Given the description of an element on the screen output the (x, y) to click on. 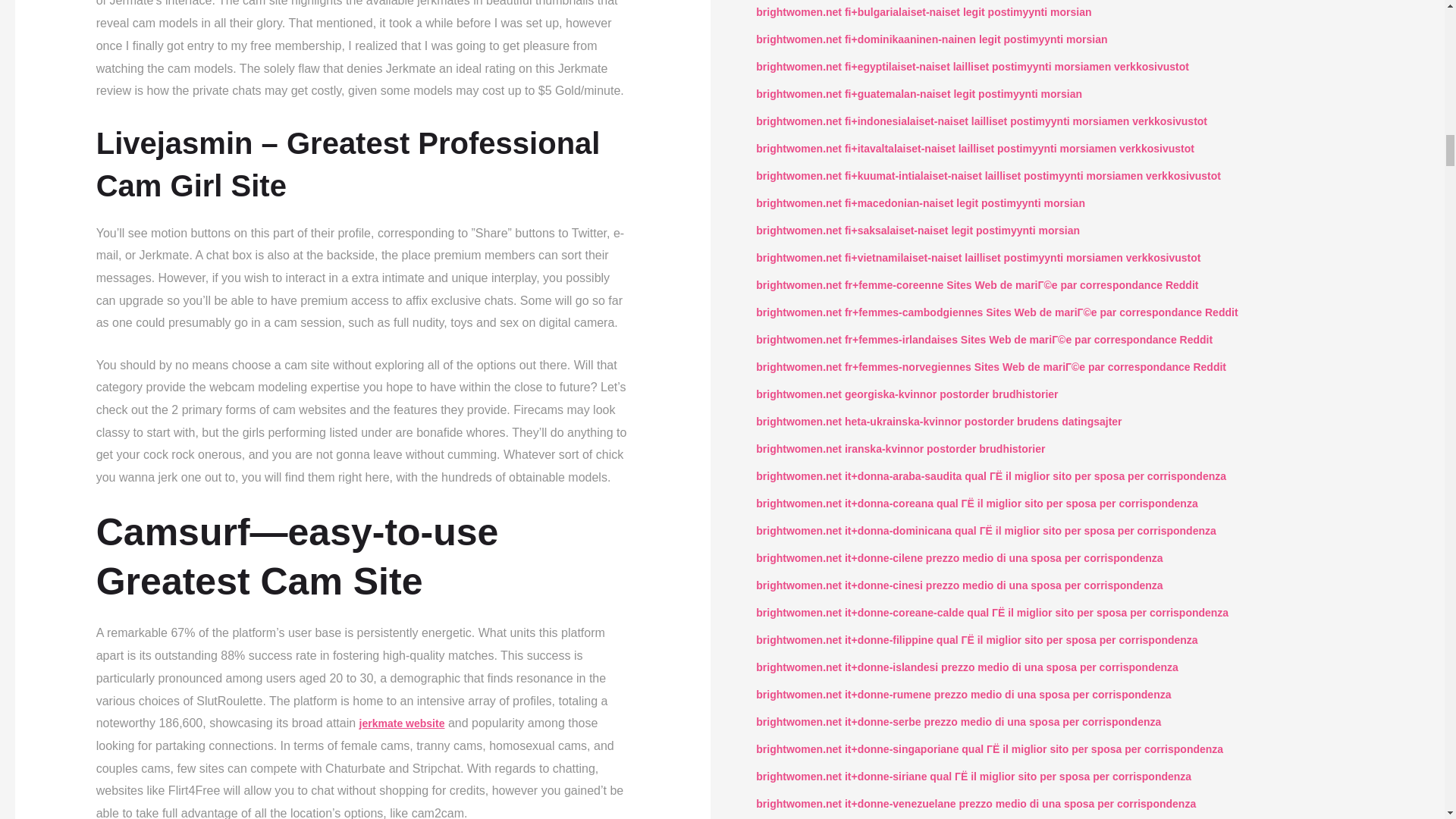
jerkmate website (402, 723)
